Given the description of an element on the screen output the (x, y) to click on. 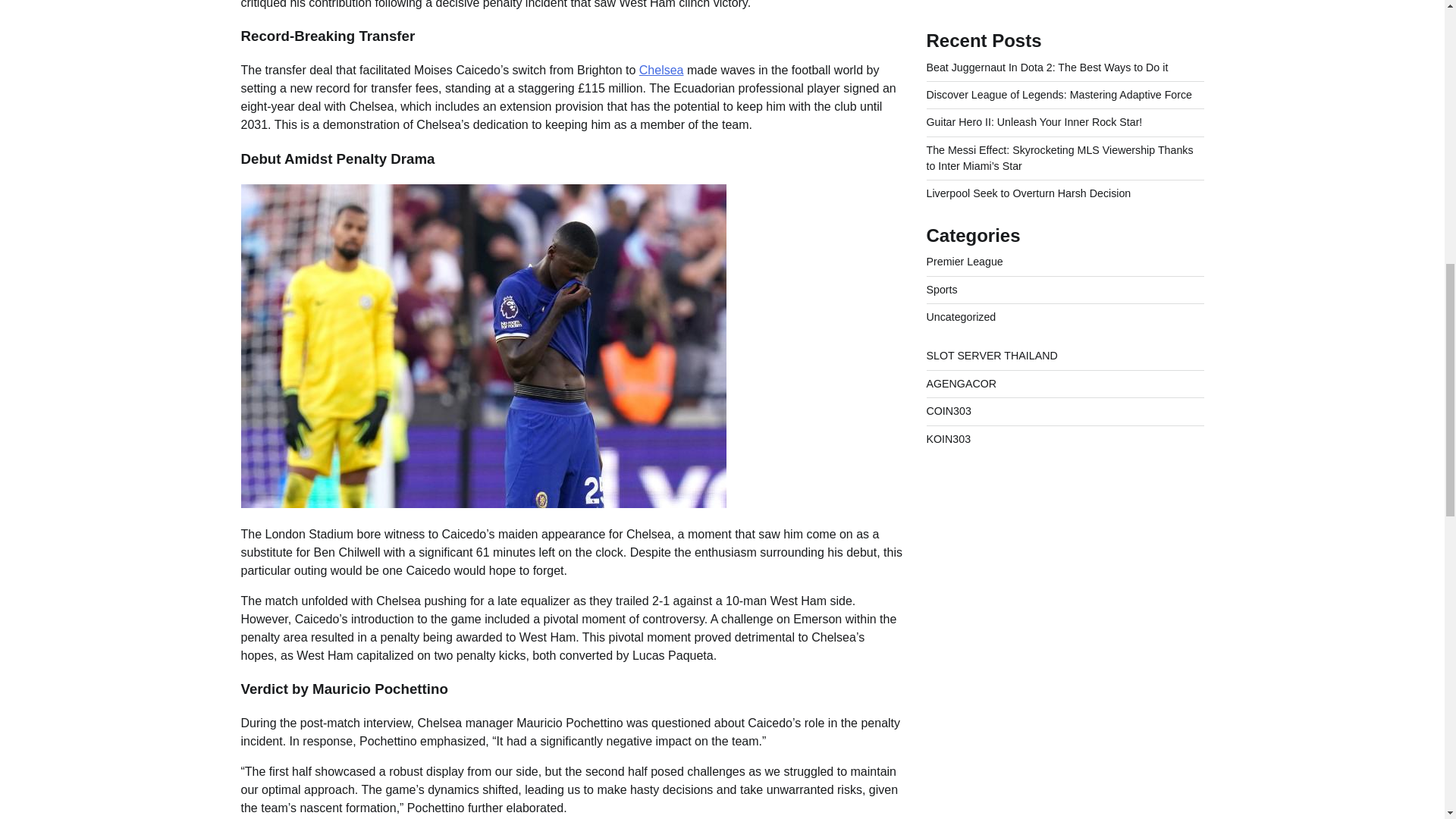
Chelsea (661, 69)
